Given the description of an element on the screen output the (x, y) to click on. 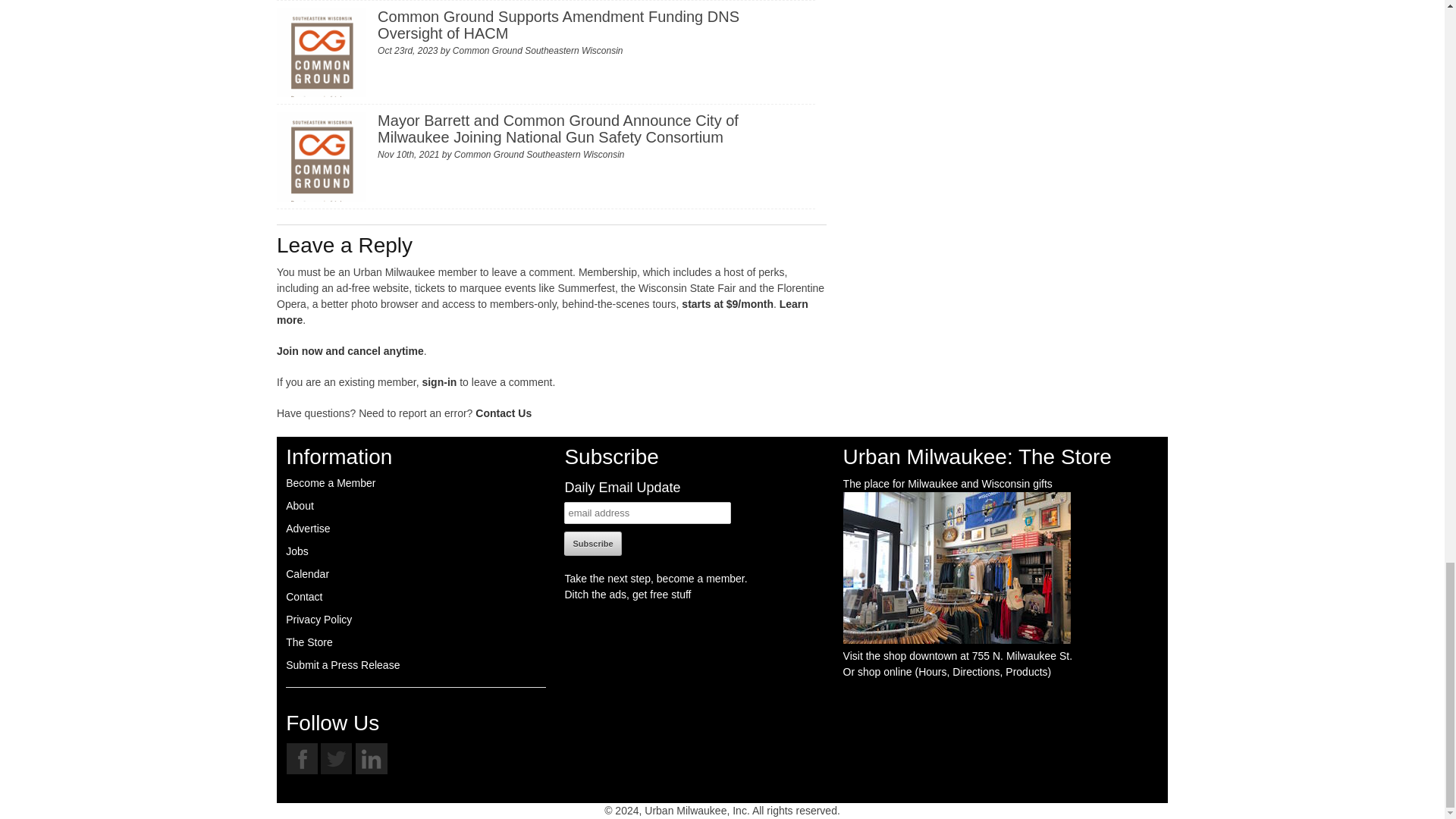
Posts by Common Ground Southeastern Wisconsin (537, 50)
Subscribe (592, 543)
Posts by Common Ground Southeastern Wisconsin (539, 154)
